Given the description of an element on the screen output the (x, y) to click on. 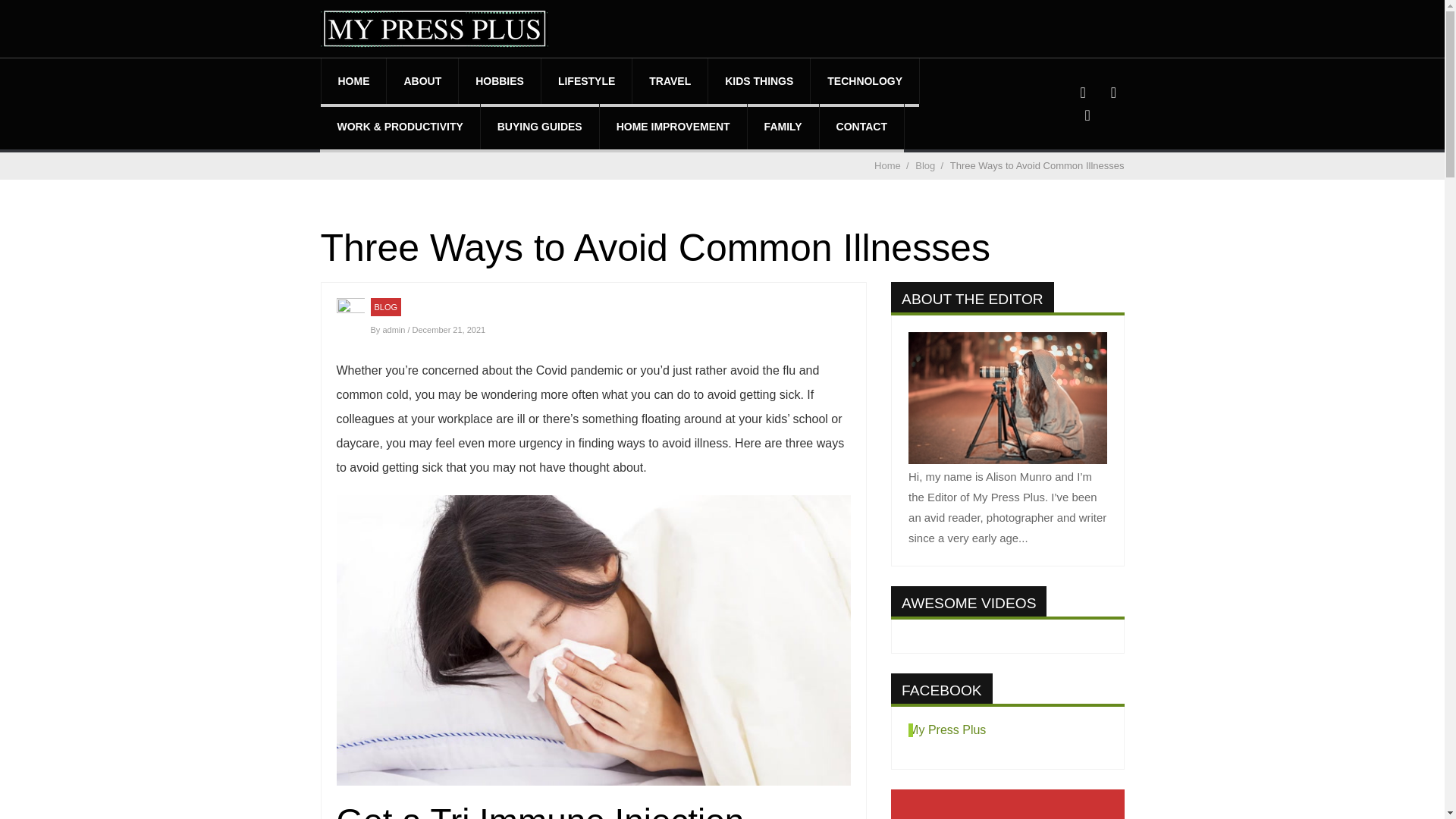
HOME (354, 81)
FAMILY (783, 126)
BUYING GUIDES (539, 126)
HOBBIES (499, 81)
LIFESTYLE (586, 81)
TECHNOLOGY (864, 81)
KIDS THINGS (758, 81)
HOME IMPROVEMENT (672, 126)
TRAVEL (669, 81)
CONTACT (861, 126)
